Given the description of an element on the screen output the (x, y) to click on. 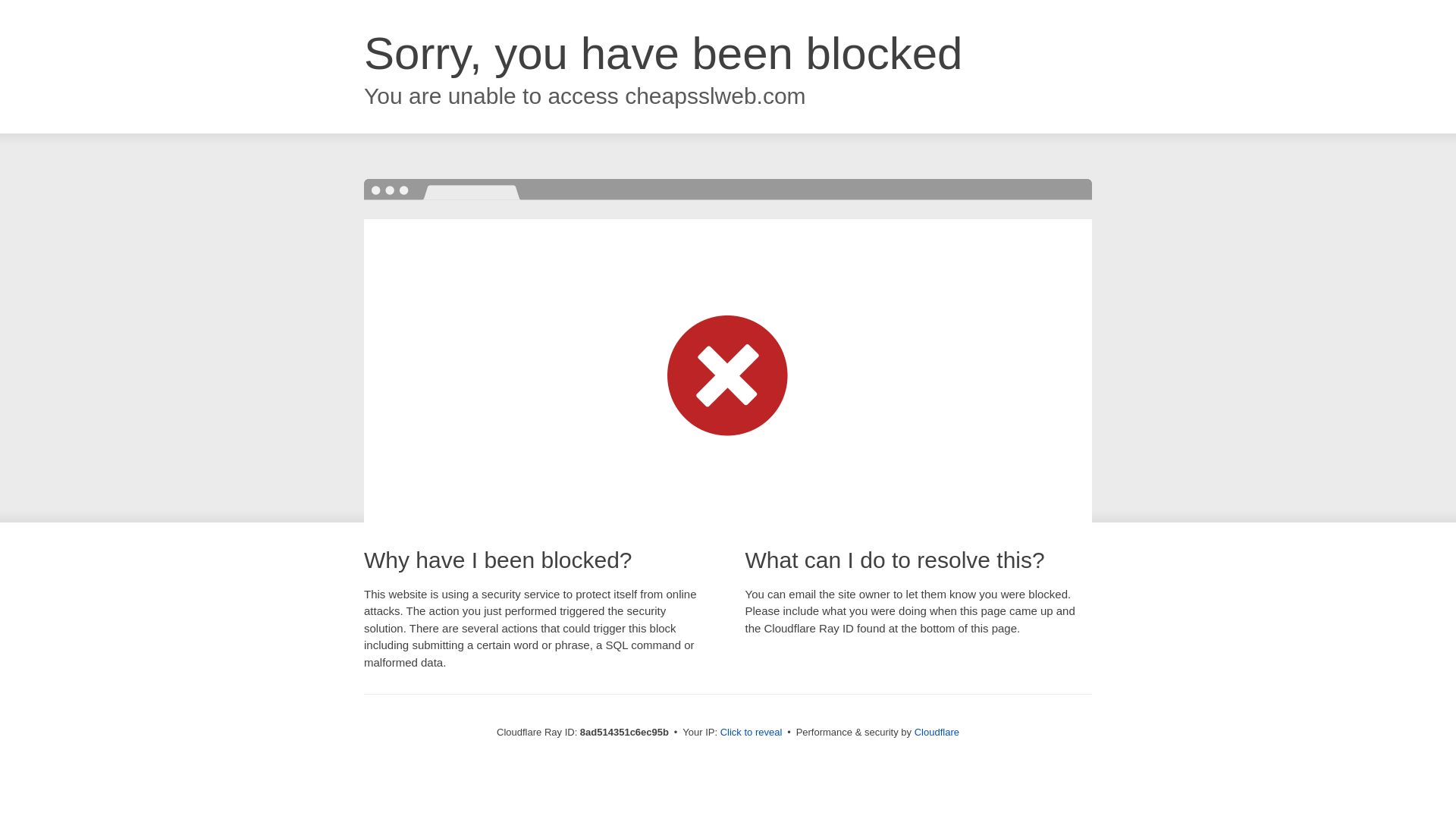
Click to reveal (751, 732)
Cloudflare (936, 731)
